Given the description of an element on the screen output the (x, y) to click on. 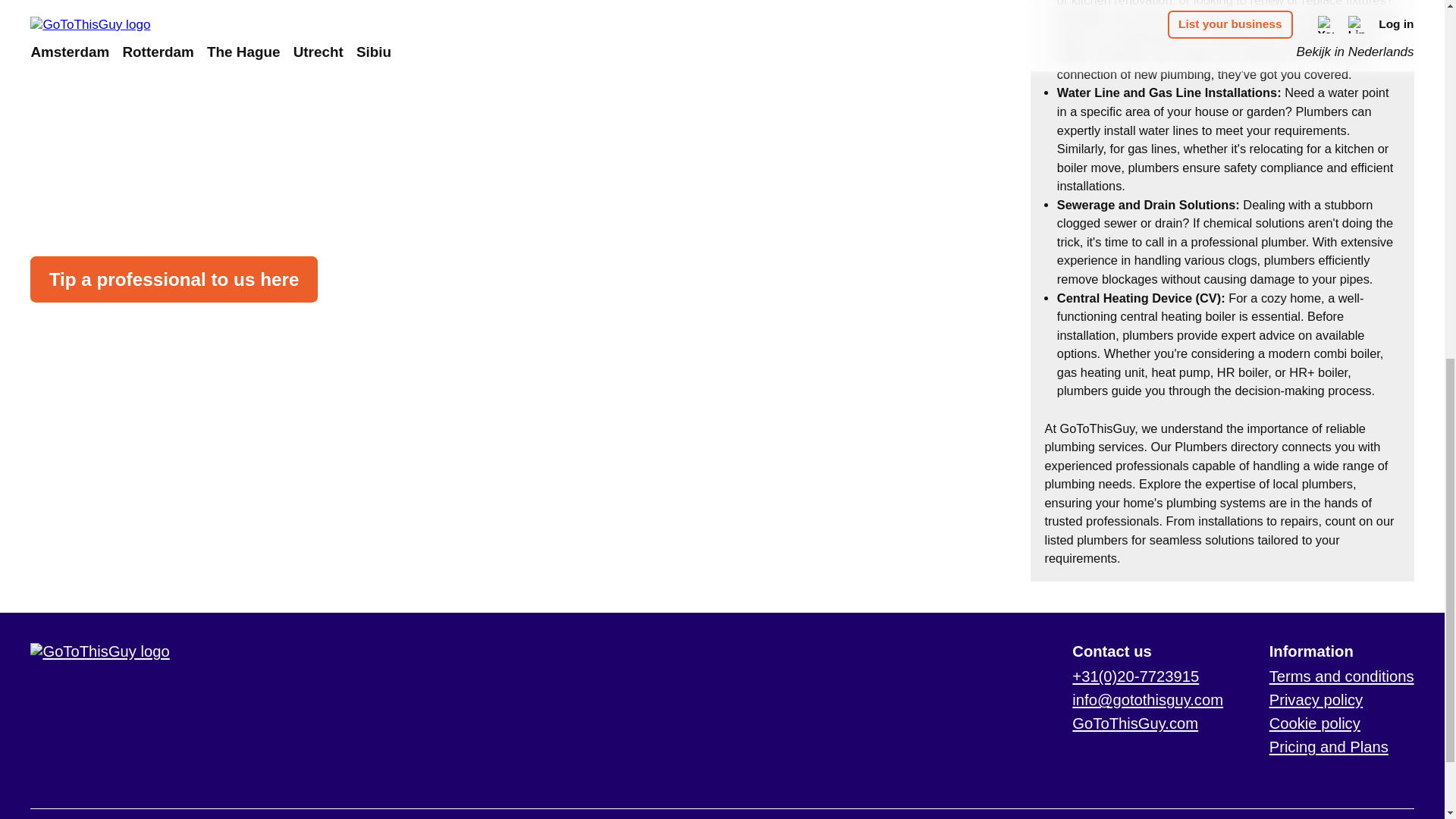
GoToThisGuy.com (1134, 723)
Cookie policy (1314, 723)
Pricing and Plans (1329, 746)
Terms and conditions (1341, 676)
Privacy policy (1315, 699)
Tip a professional to us here (173, 279)
